Given the description of an element on the screen output the (x, y) to click on. 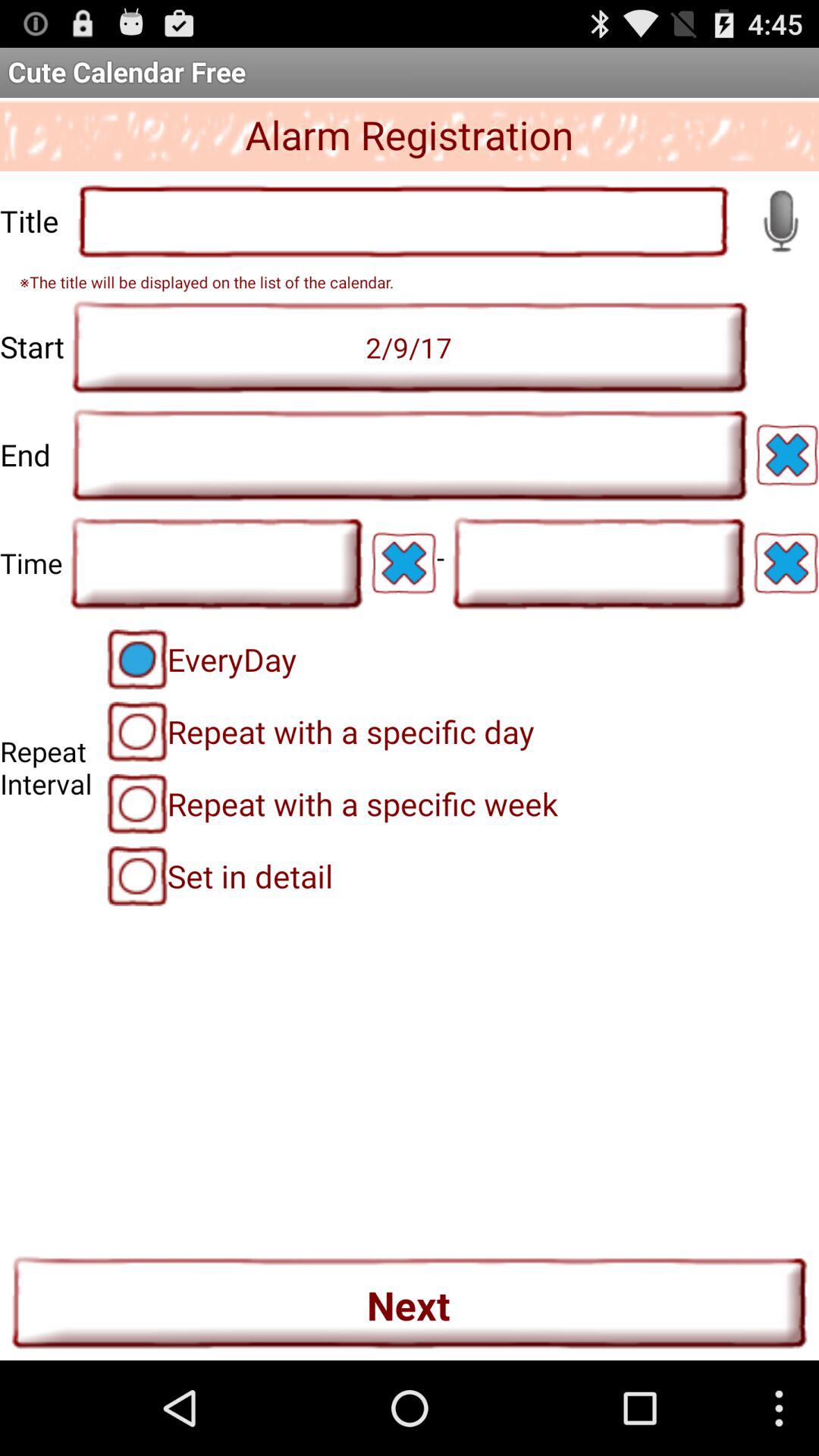
flip to the everyday radio button (201, 659)
